Given the description of an element on the screen output the (x, y) to click on. 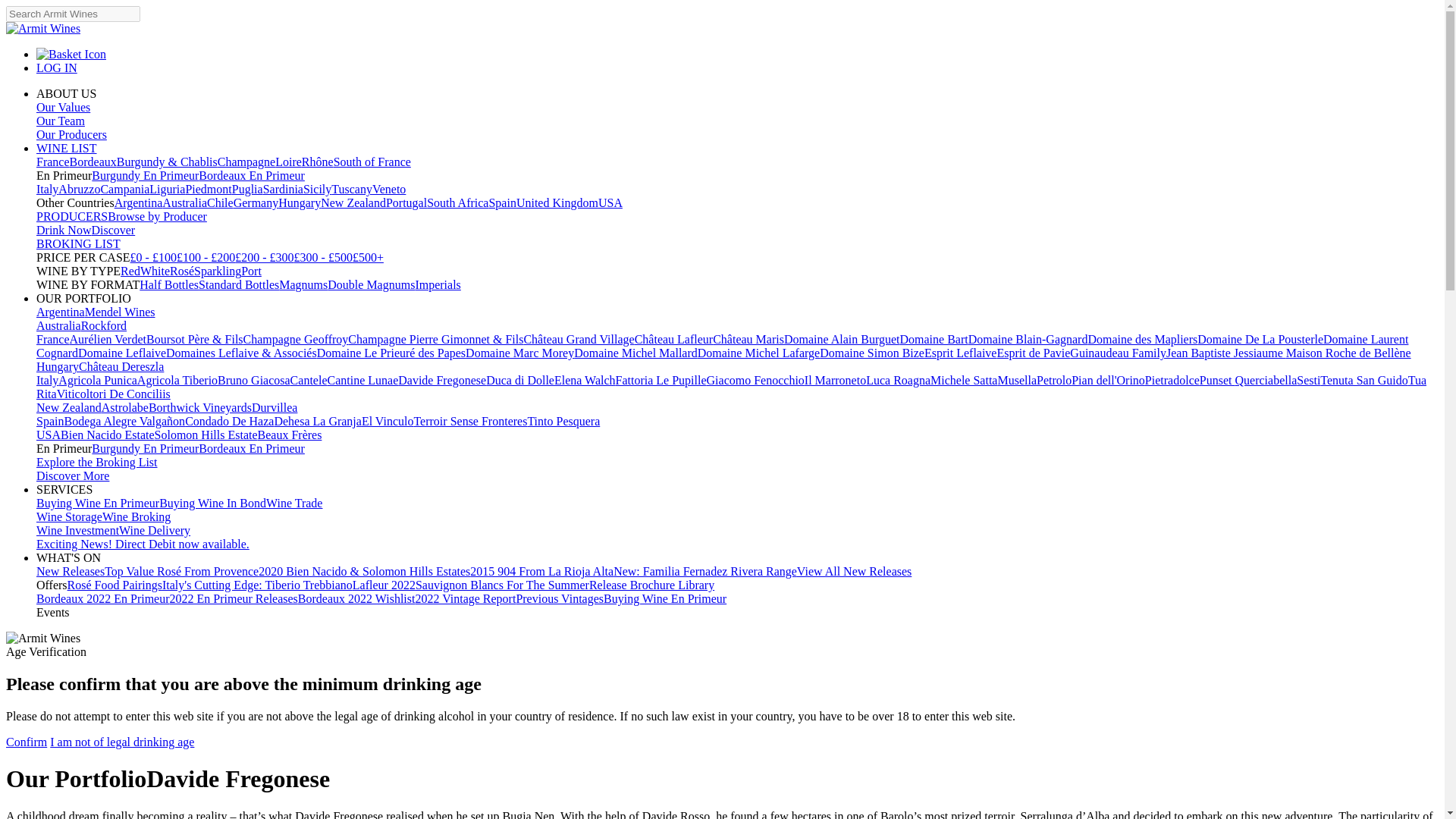
LOG IN (56, 67)
USA (610, 202)
Hungary (299, 202)
Australia (183, 202)
Portugal (405, 202)
Bordeaux En Primeur (251, 174)
About Us (66, 92)
Our Values (63, 106)
Our Values (63, 106)
Veneto (389, 188)
En Primeur (63, 174)
Piedmont (207, 188)
Our Producers (71, 133)
Log in to your account (56, 67)
Sicily (316, 188)
